Given the description of an element on the screen output the (x, y) to click on. 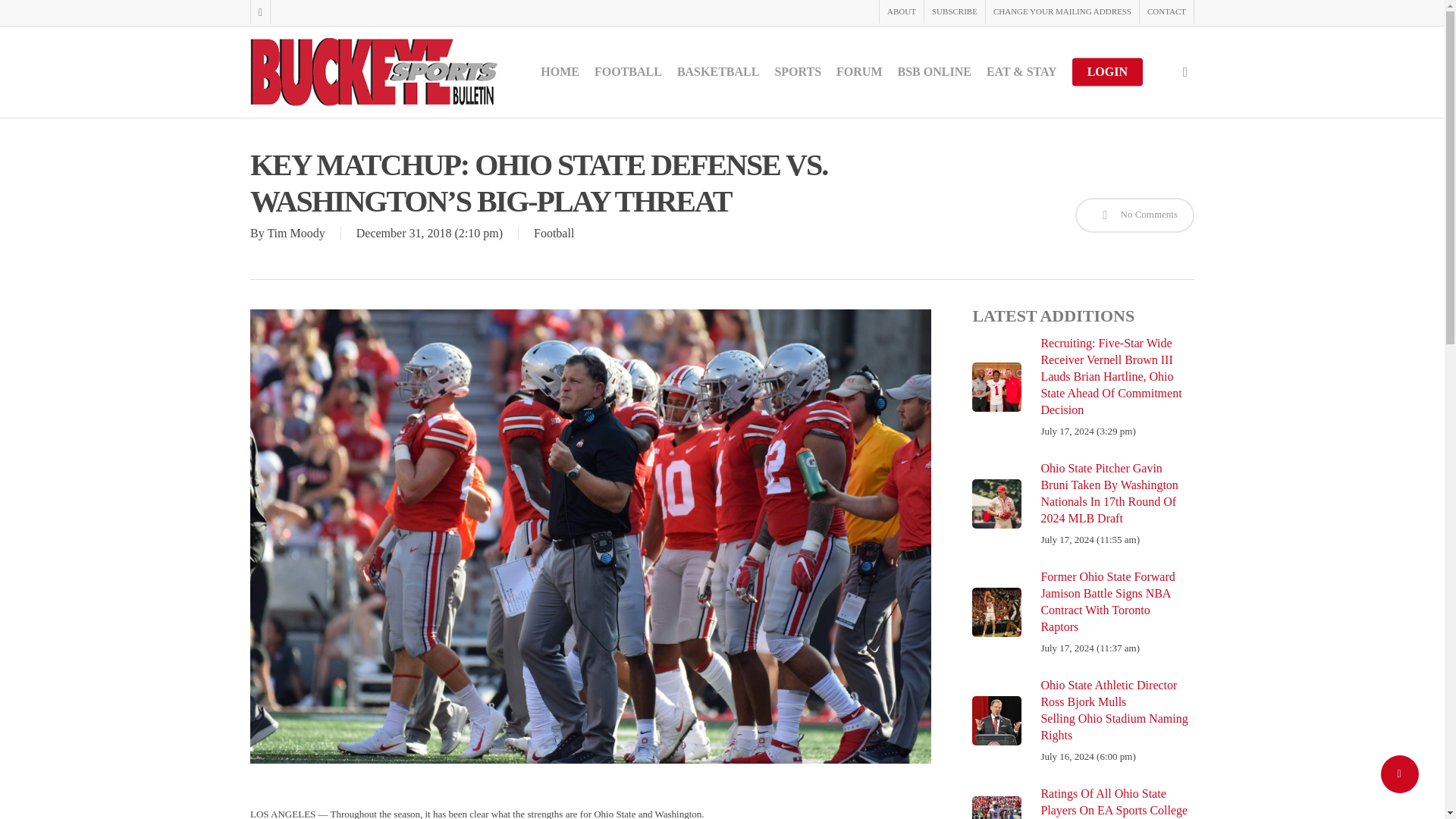
HOME (559, 71)
BASKETBALL (717, 71)
Tim Moody (295, 232)
BSB ONLINE (934, 71)
CHANGE YOUR MAILING ADDRESS (1061, 11)
CONTACT (1165, 11)
search (1184, 71)
ABOUT (901, 11)
Football (553, 232)
SPORTS (797, 71)
SUBSCRIBE (954, 11)
FORUM (858, 71)
TWITTER (259, 12)
Posts by Tim Moody (295, 232)
FOOTBALL (628, 71)
